Given the description of an element on the screen output the (x, y) to click on. 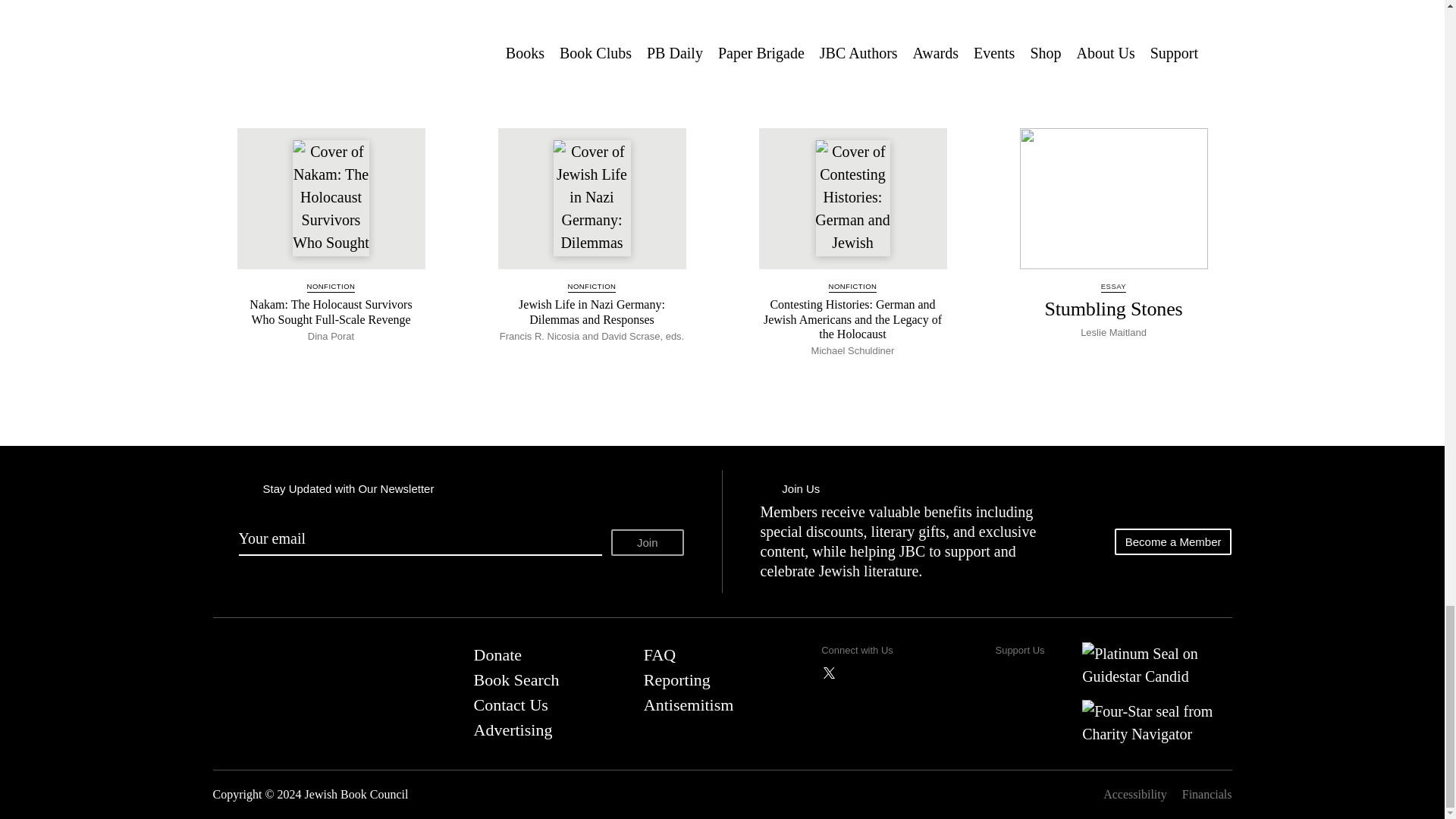
Join (647, 542)
